Given the description of an element on the screen output the (x, y) to click on. 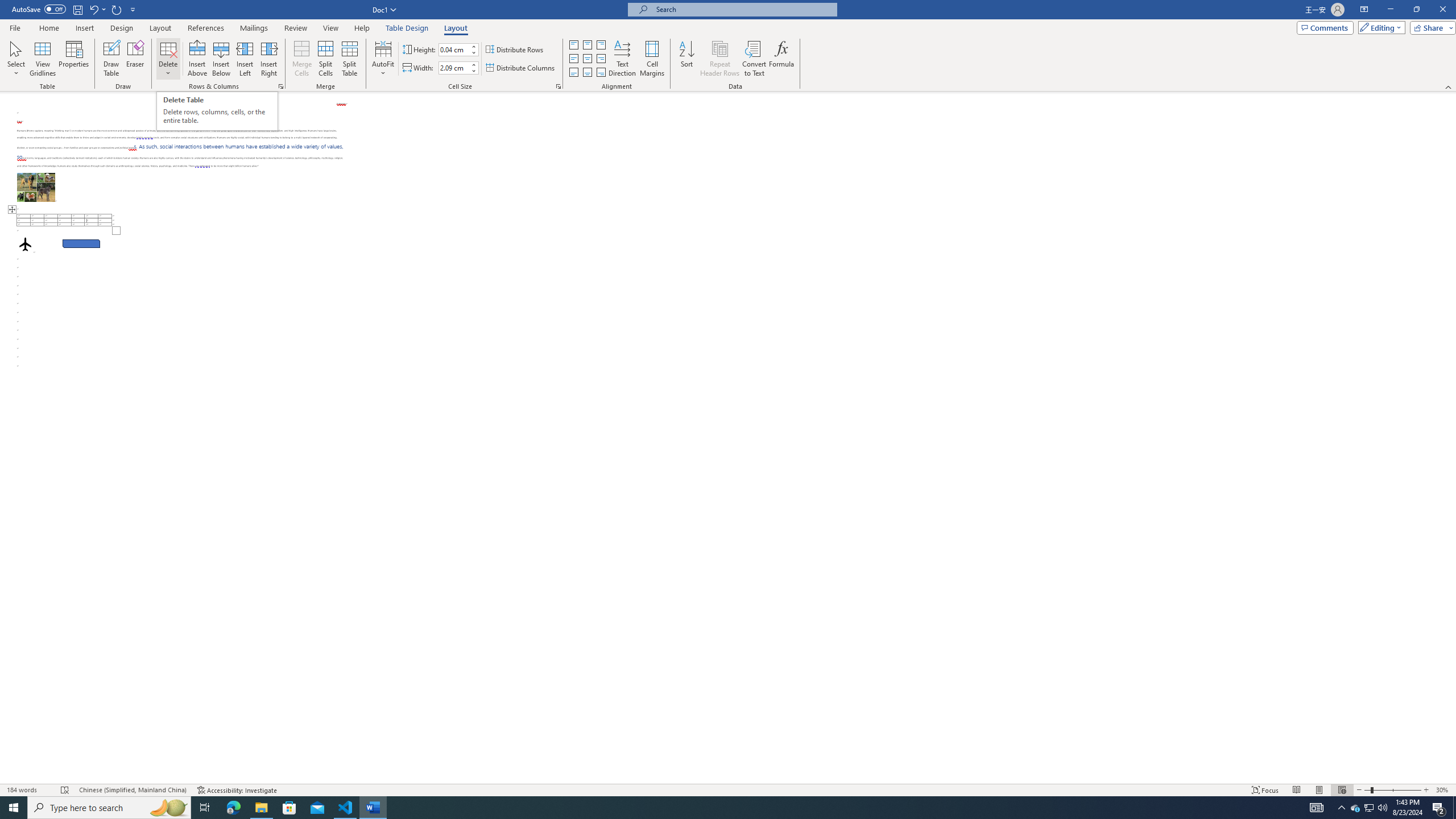
Zoom 30% (1443, 790)
Undo Row Height Spinner (96, 9)
Spelling and Grammar Check Errors (65, 790)
Airplane with solid fill (25, 243)
Editing (1379, 27)
Rectangle: Diagonal Corners Snipped 2 (81, 243)
Align Center (587, 58)
